Given the description of an element on the screen output the (x, y) to click on. 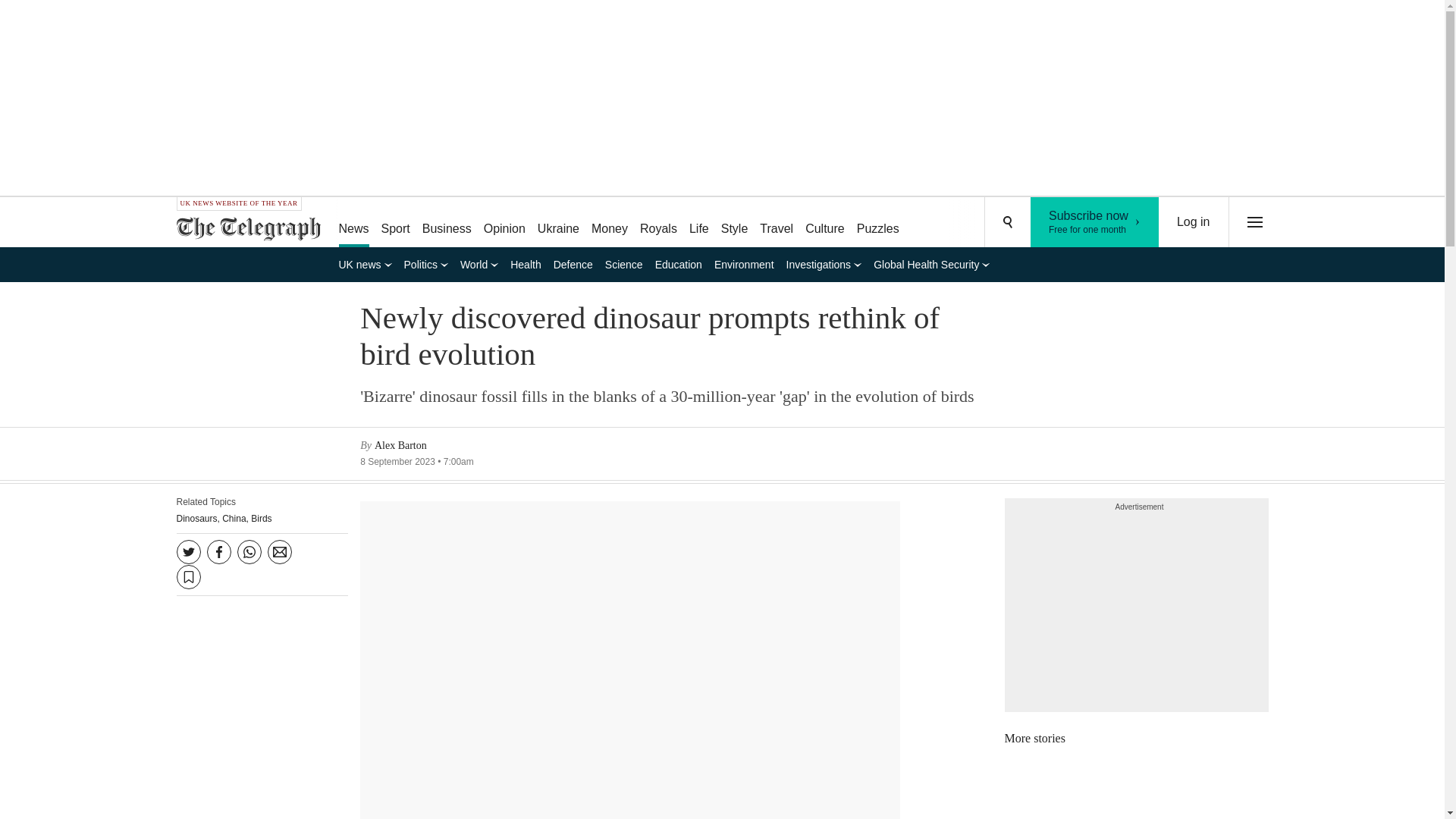
Opinion (504, 223)
UK news (364, 264)
World (1094, 222)
Money (478, 264)
Travel (609, 223)
Log in (776, 223)
The Telegraph logo (1193, 222)
The Telegraph logo (253, 228)
Business (248, 228)
Ukraine (446, 223)
Puzzles (558, 223)
Politics (877, 223)
Culture (425, 264)
Royals (824, 223)
